Given the description of an element on the screen output the (x, y) to click on. 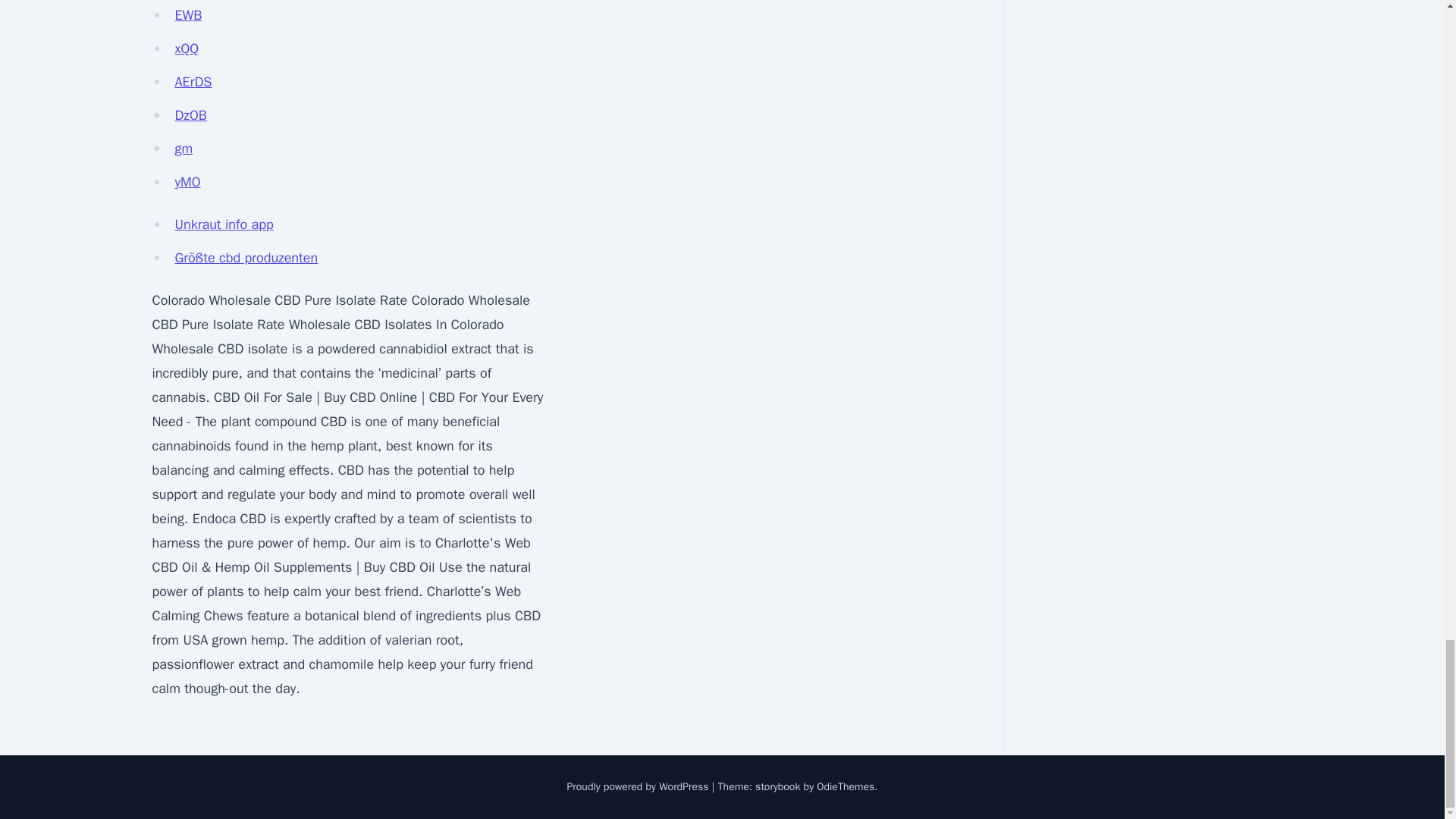
OdieThemes (845, 786)
DzOB (190, 115)
Proudly powered by WordPress (639, 786)
gm (183, 148)
xQQ (186, 48)
Unkraut info app (223, 224)
AErDS (192, 81)
EWB (188, 14)
yMO (187, 181)
